Given the description of an element on the screen output the (x, y) to click on. 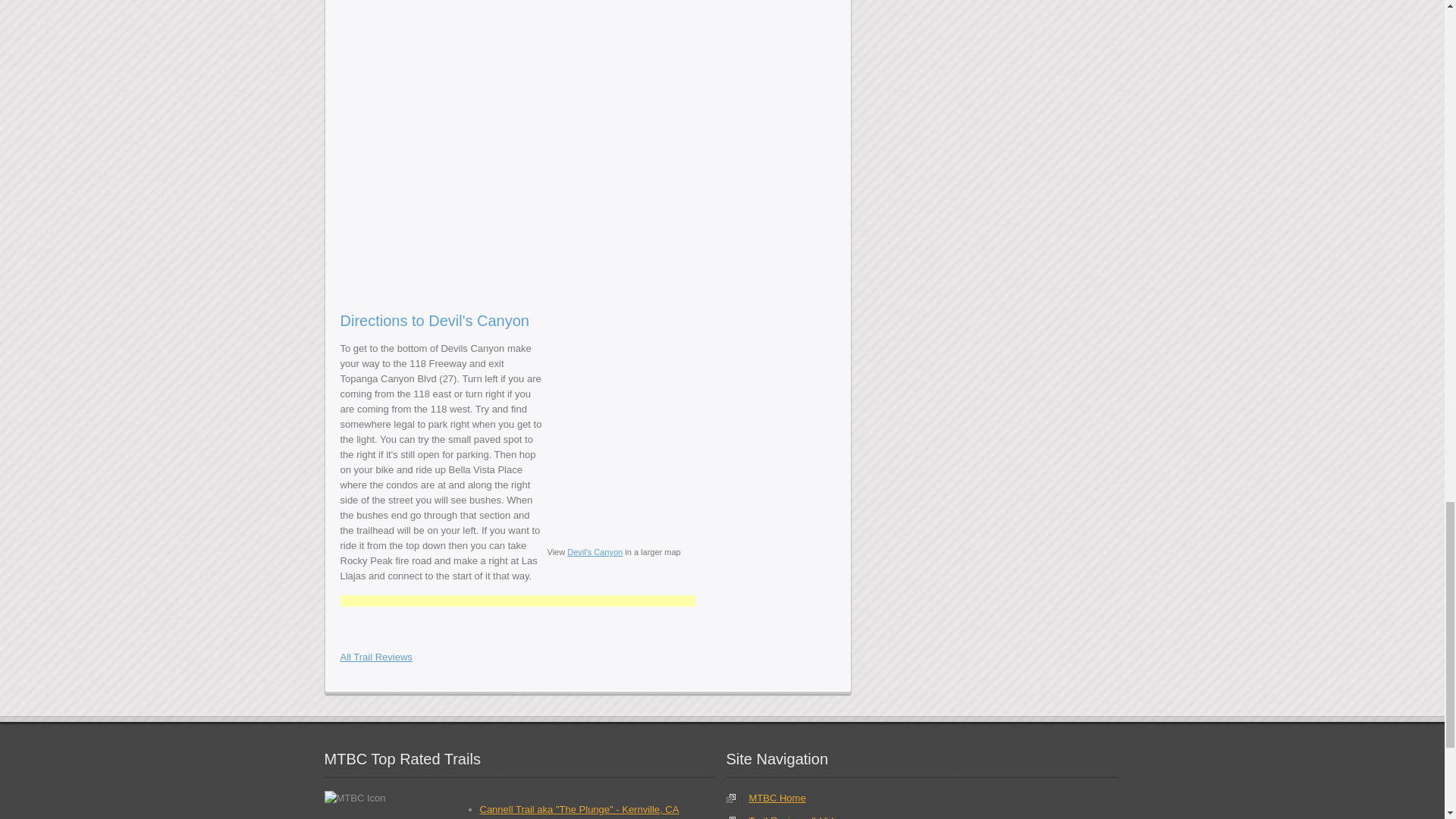
Devil's Canyon (624, 122)
Devil's Canyon (434, 122)
Devil's Canyon (624, 32)
Devil's Canyon (434, 32)
Devil's Canyon (624, 235)
Devil's Canyon (434, 235)
